Given the description of an element on the screen output the (x, y) to click on. 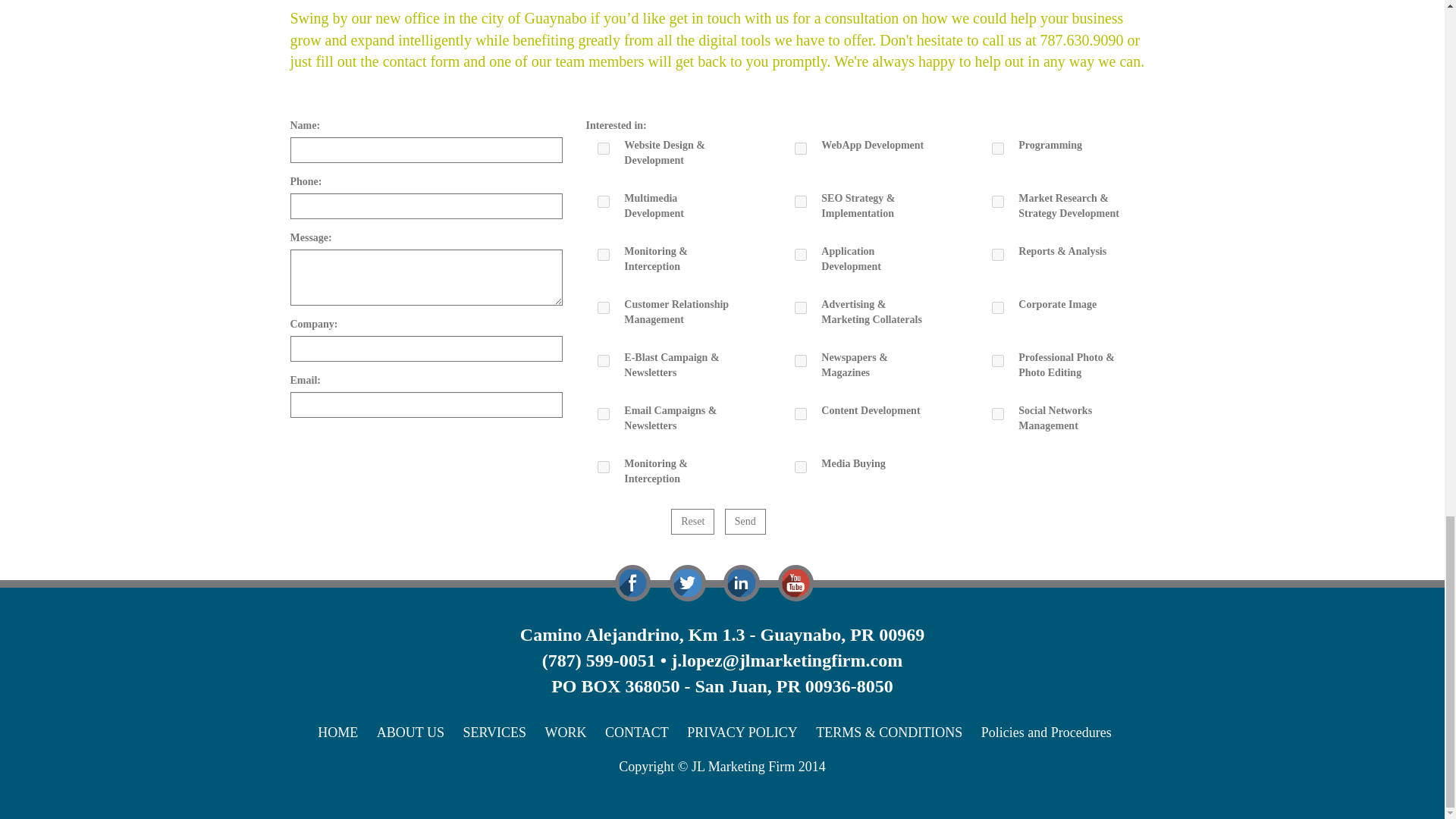
Reset (692, 521)
SERVICES (502, 732)
ABOUT US (418, 732)
HOME (344, 732)
Send (745, 521)
WORK (573, 732)
CONTACT (644, 732)
Policies and Procedures (1053, 732)
PRIVACY POLICY (749, 732)
